Given the description of an element on the screen output the (x, y) to click on. 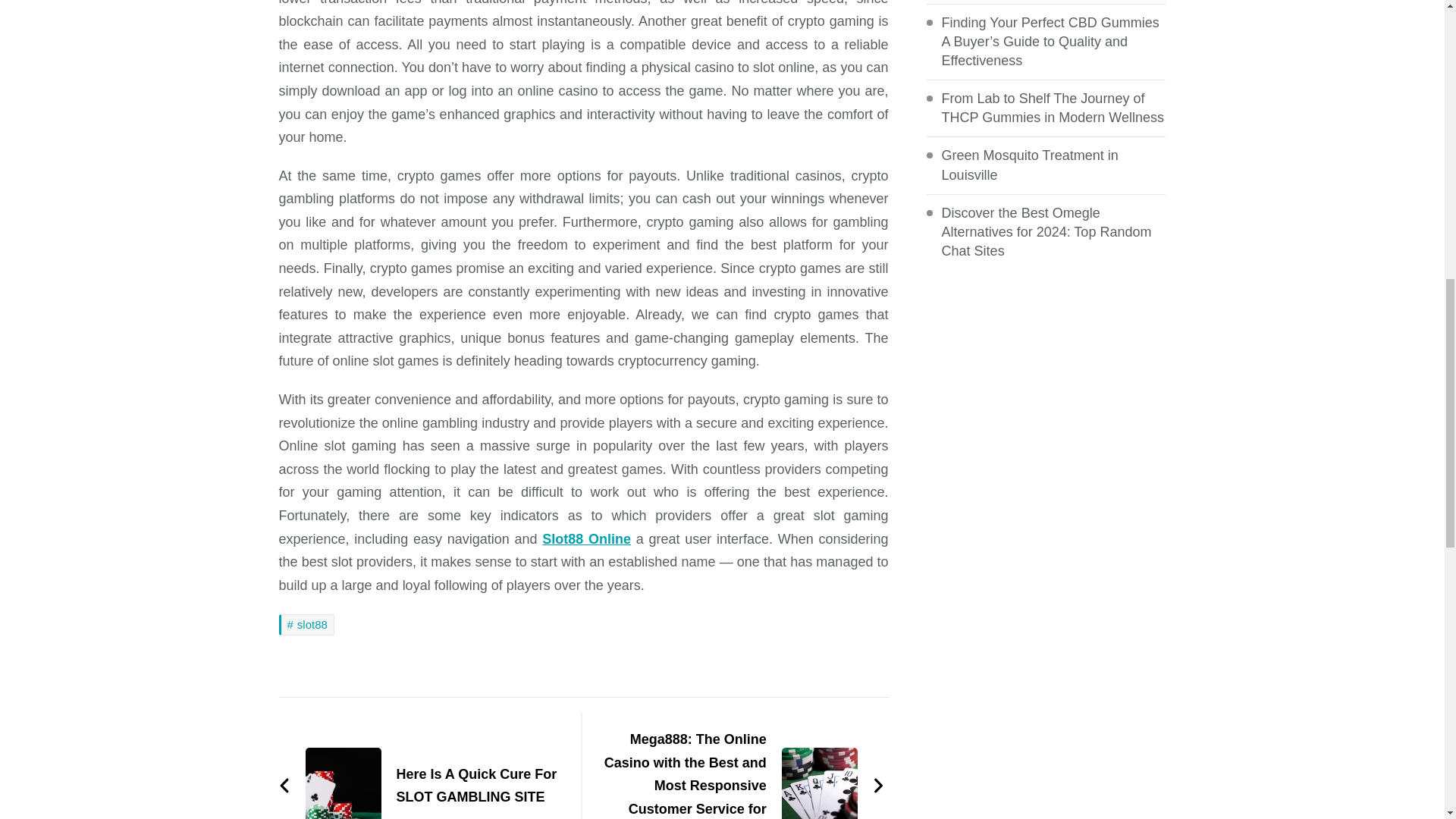
Here Is A Quick Cure For SLOT GAMBLING SITE (421, 785)
slot88 (306, 624)
Slot88 Online (585, 539)
